Given the description of an element on the screen output the (x, y) to click on. 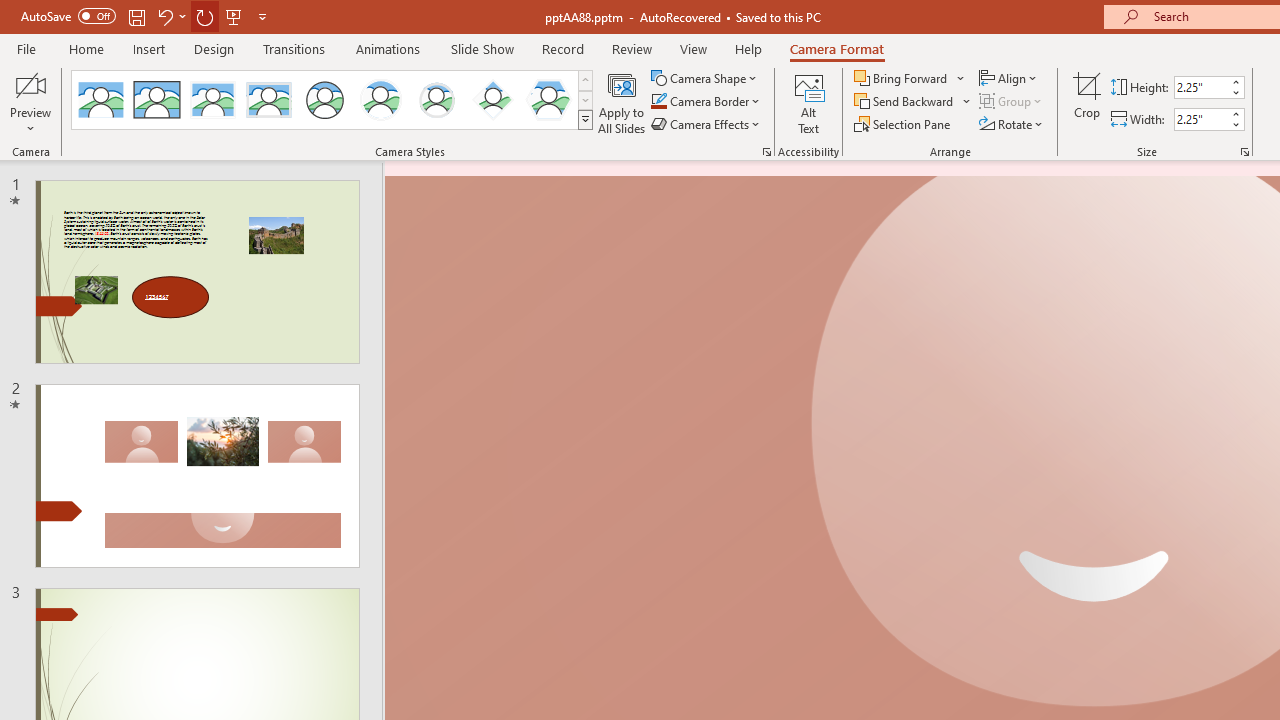
Selection Pane... (904, 124)
Soft Edge Circle (436, 100)
Cameo Height (1201, 87)
Simple Frame Rectangle (157, 100)
Bring Forward (910, 78)
Send Backward (913, 101)
Camera Border (706, 101)
Camera Format (836, 48)
Rotate (1012, 124)
